Given the description of an element on the screen output the (x, y) to click on. 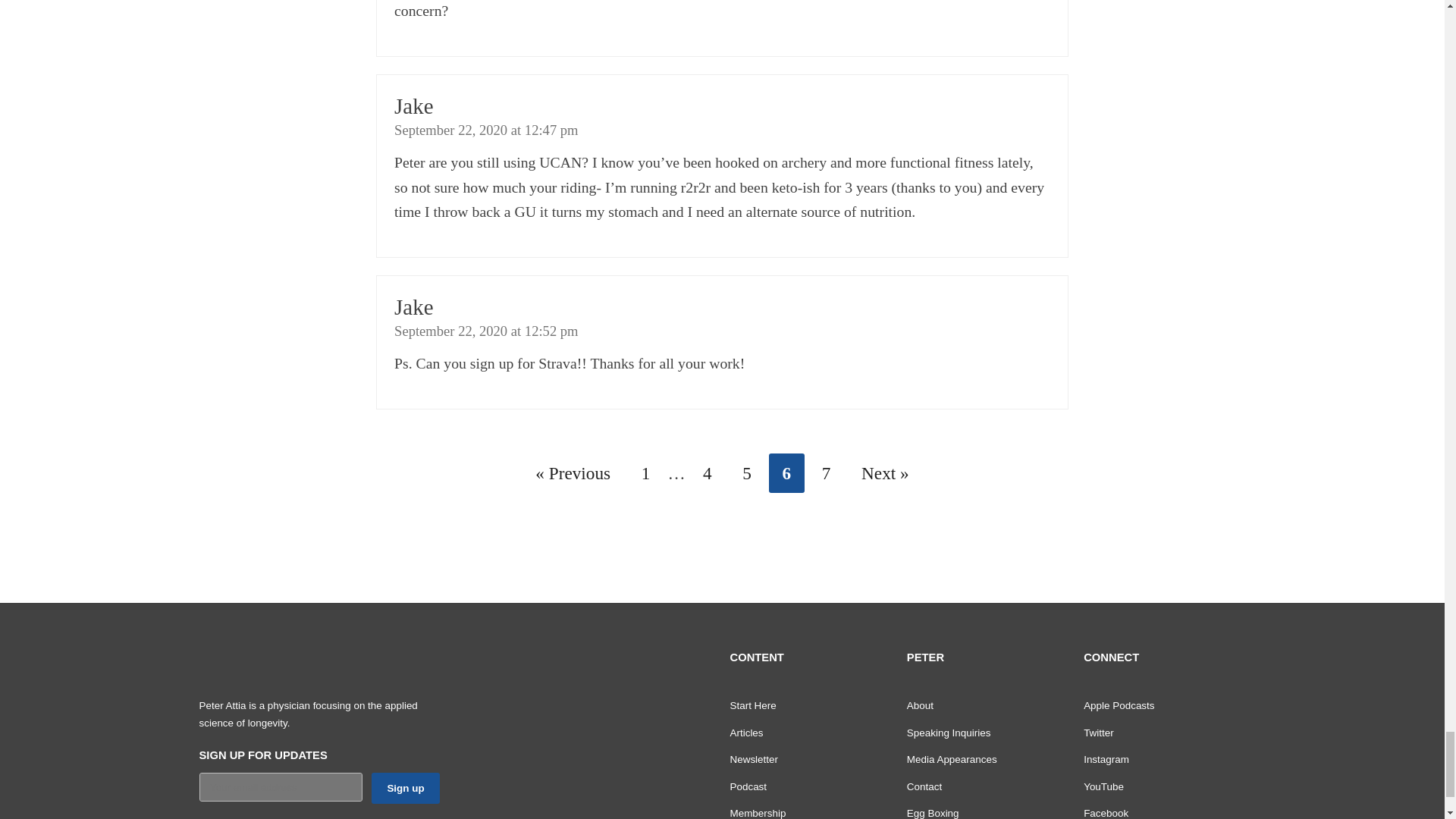
Peter Attia (289, 665)
Sign up (405, 788)
